Given the description of an element on the screen output the (x, y) to click on. 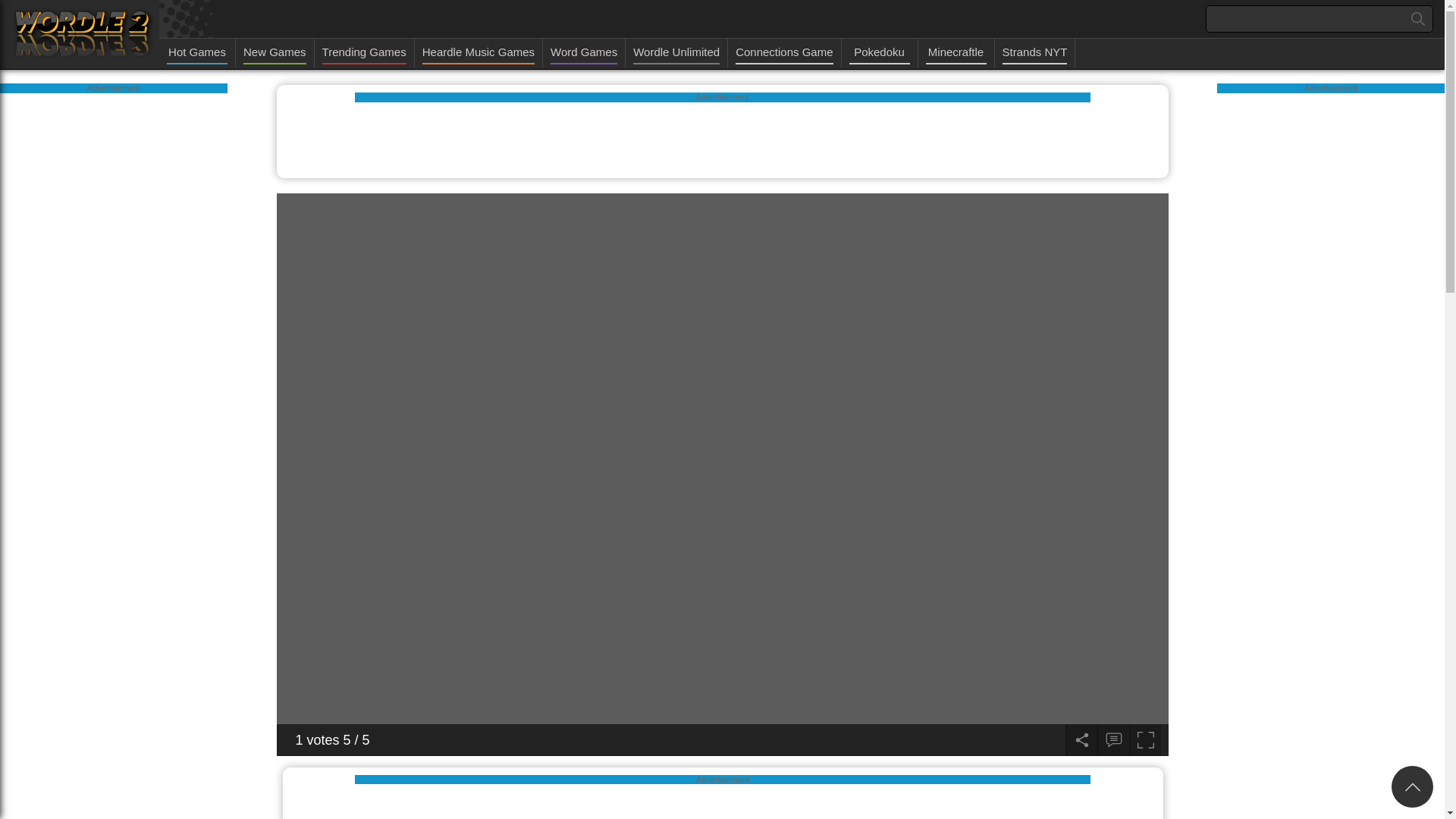
Minecraftle (956, 52)
Hot Games (197, 52)
New Games (274, 52)
Connections Game (783, 52)
Word Games (583, 52)
Strands NYT (1035, 52)
Pokedoku (879, 52)
Wordle 2 (83, 36)
Wordle Unlimited (676, 52)
Wordle 2 (83, 35)
Heardle Music Games (478, 52)
Trending Games (363, 52)
